Given the description of an element on the screen output the (x, y) to click on. 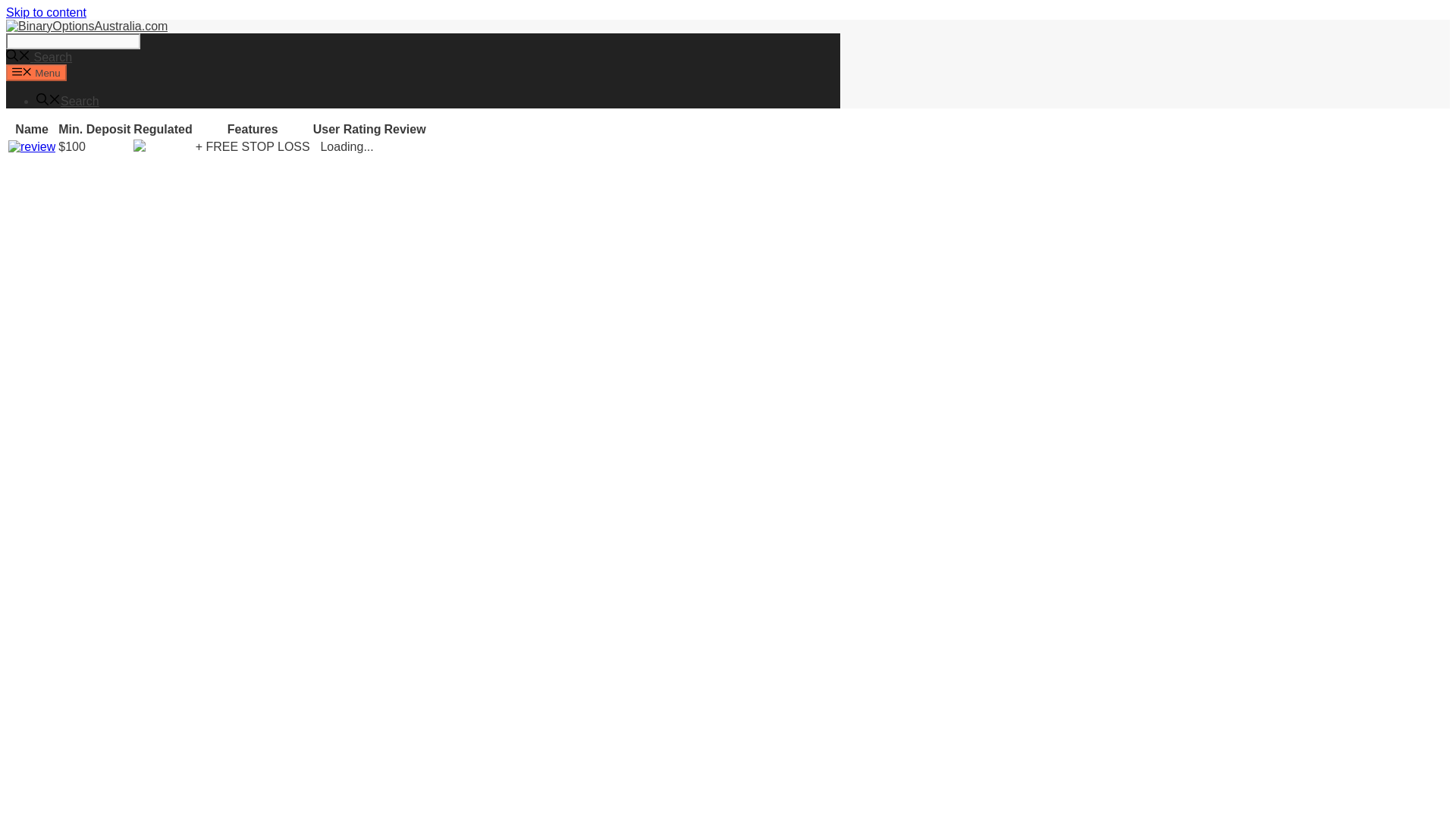
Search (38, 56)
BinaryOptionsAustralia.com (86, 26)
Search (67, 101)
Menu (35, 72)
Search (72, 41)
Search (38, 56)
BinaryOptionsAustralia.com (86, 25)
Skip to content (45, 11)
Search (438, 100)
Skip to content (45, 11)
